Given the description of an element on the screen output the (x, y) to click on. 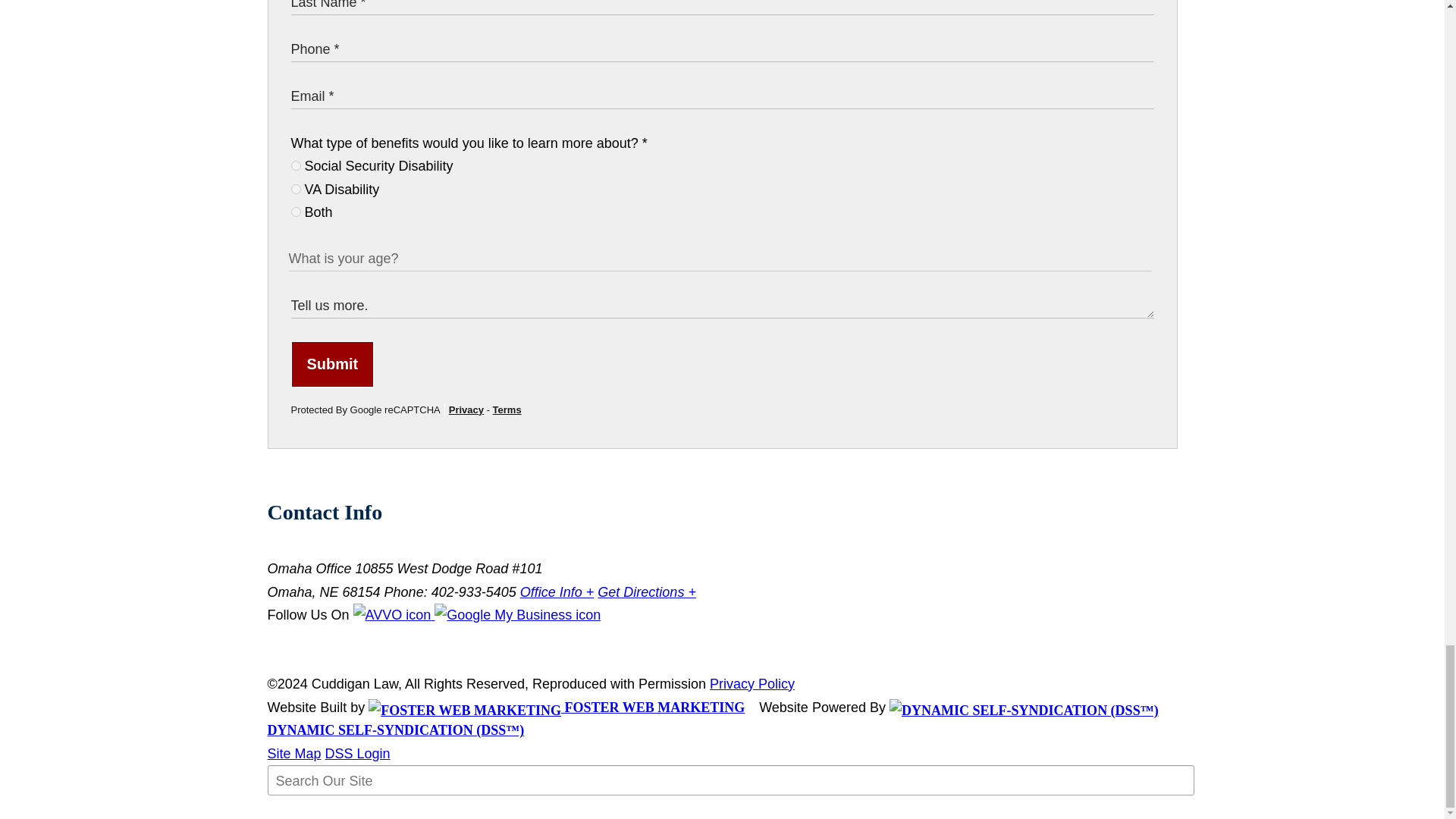
Both (296, 212)
VA Disability (296, 189)
Search (304, 811)
Social Security Disability (296, 165)
